Given the description of an element on the screen output the (x, y) to click on. 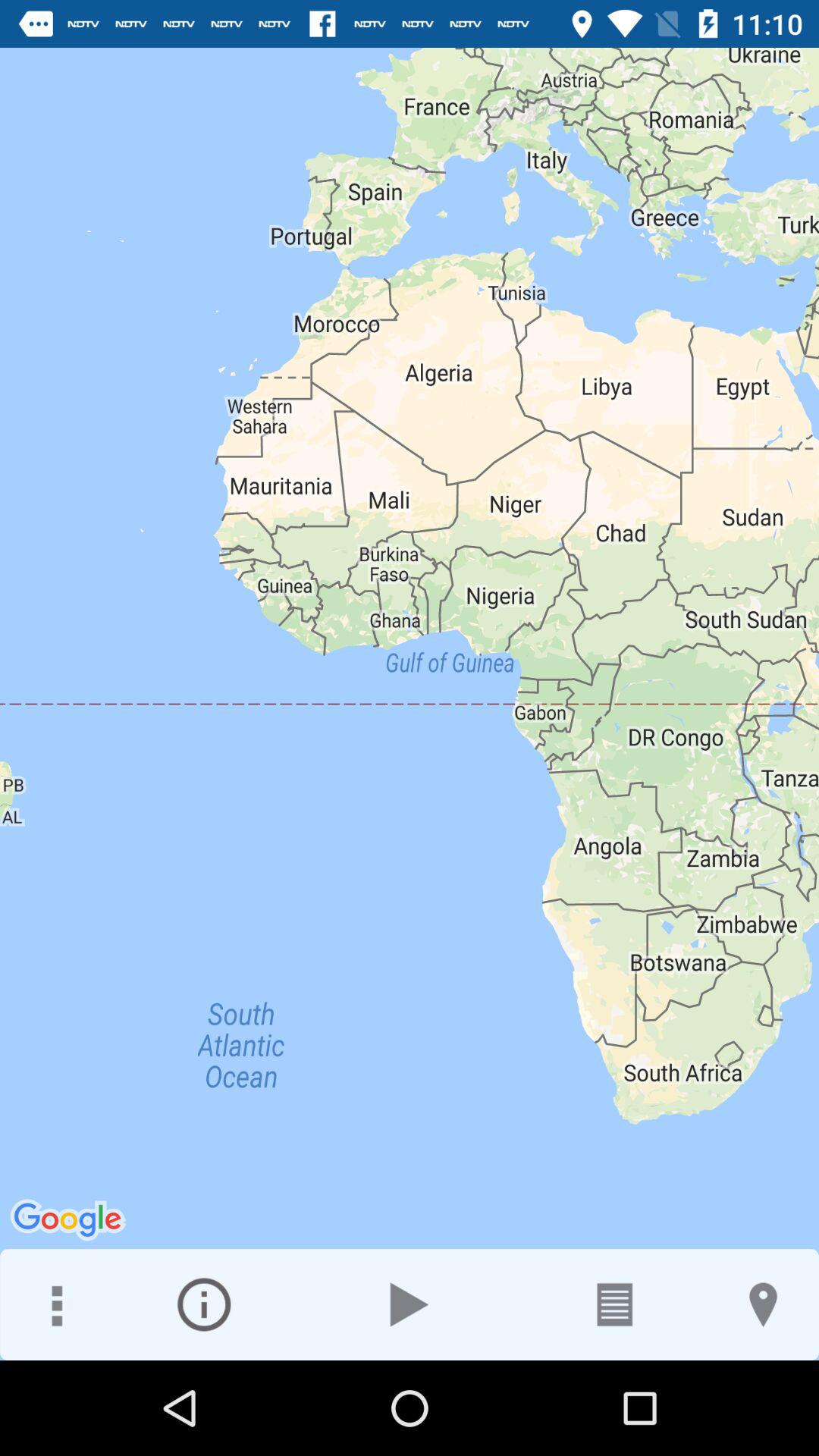
turn on the icon at the center (409, 703)
